Given the description of an element on the screen output the (x, y) to click on. 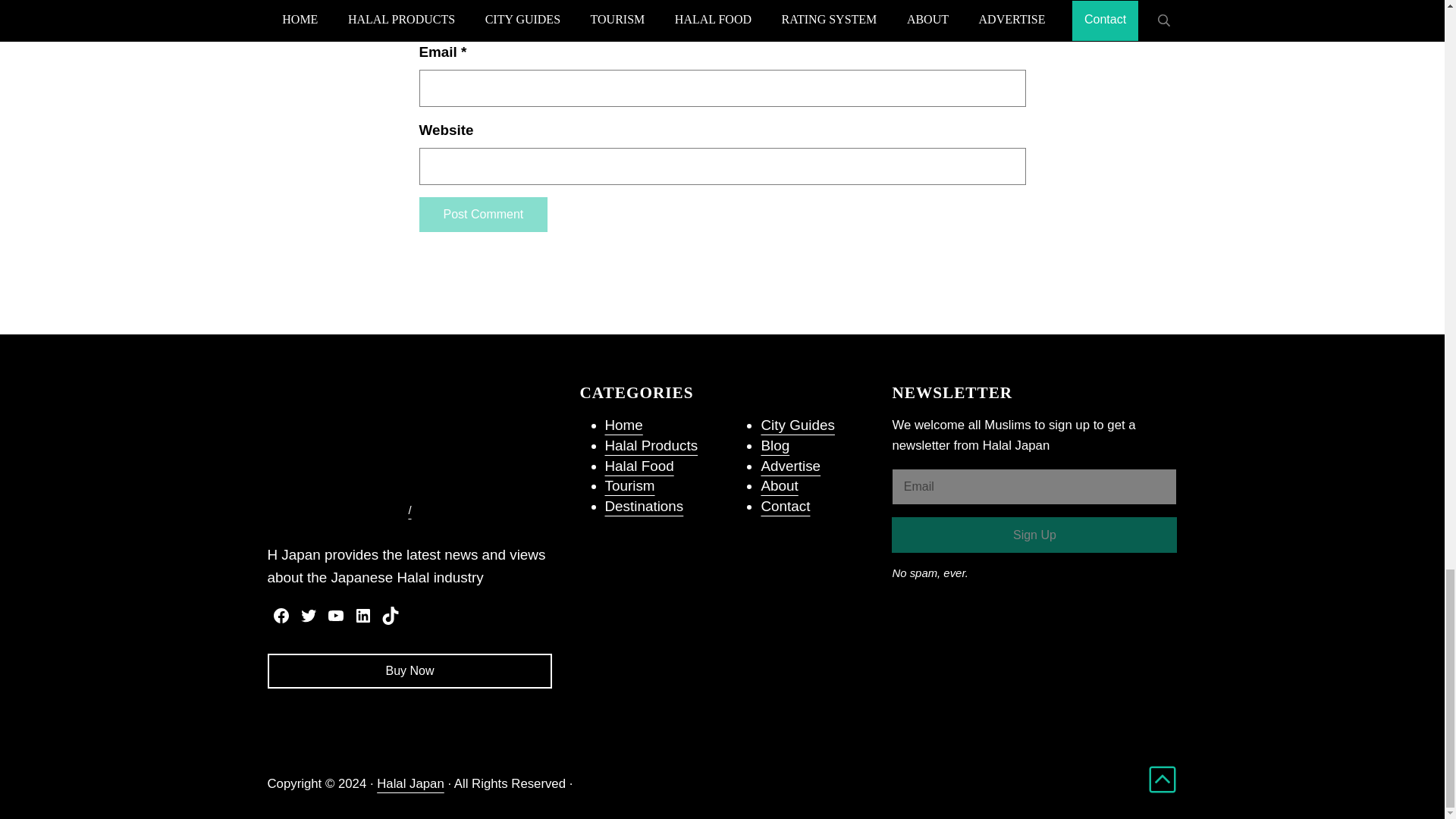
Post Comment (483, 214)
Sign Up (1033, 534)
